Given the description of an element on the screen output the (x, y) to click on. 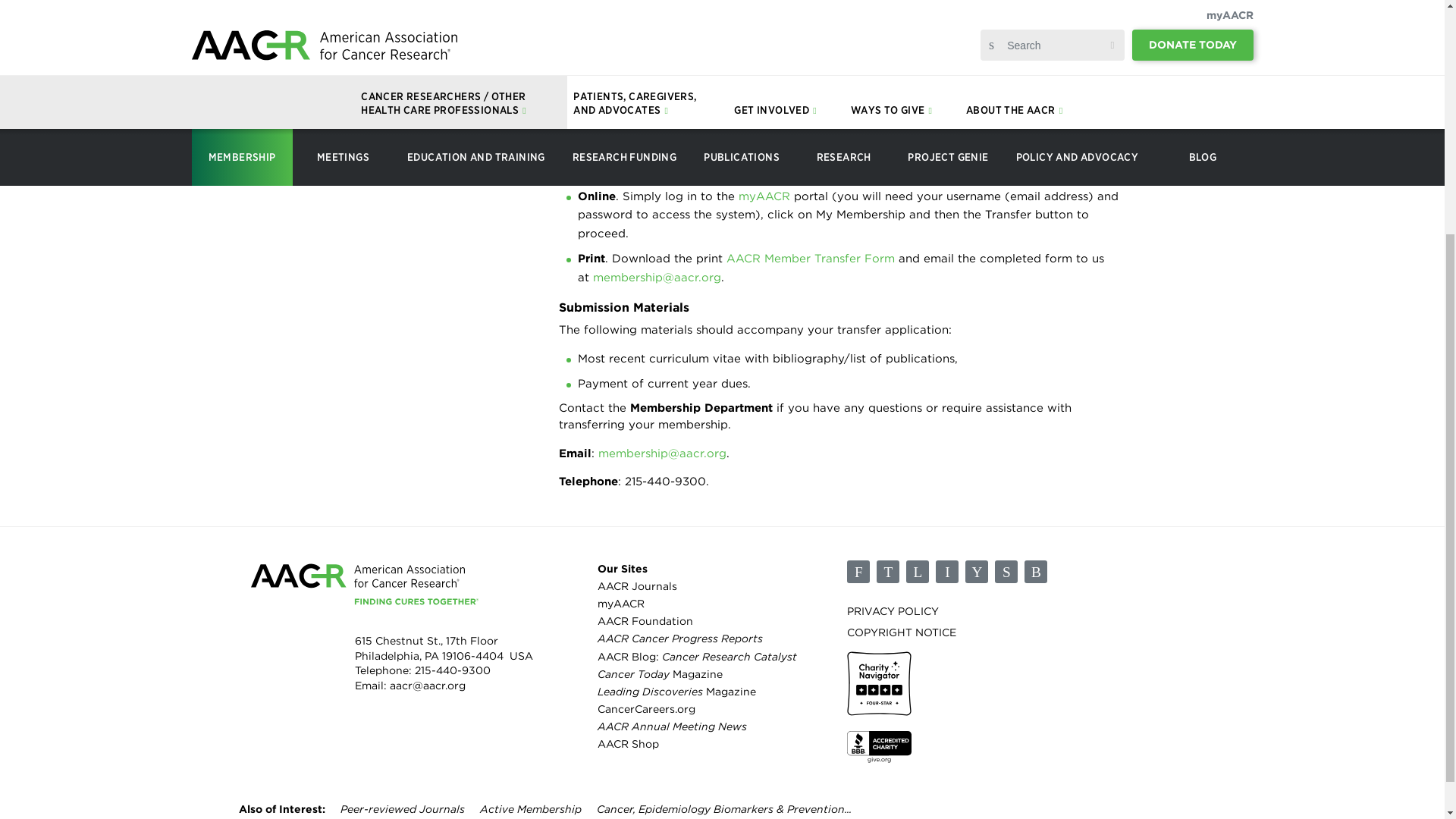
LinkedIn (916, 571)
Twitter (887, 571)
Search (44, 664)
Blog (1035, 571)
Instagram (947, 571)
Snapchat (1005, 571)
YouTube (976, 571)
Facebook (858, 571)
